Given the description of an element on the screen output the (x, y) to click on. 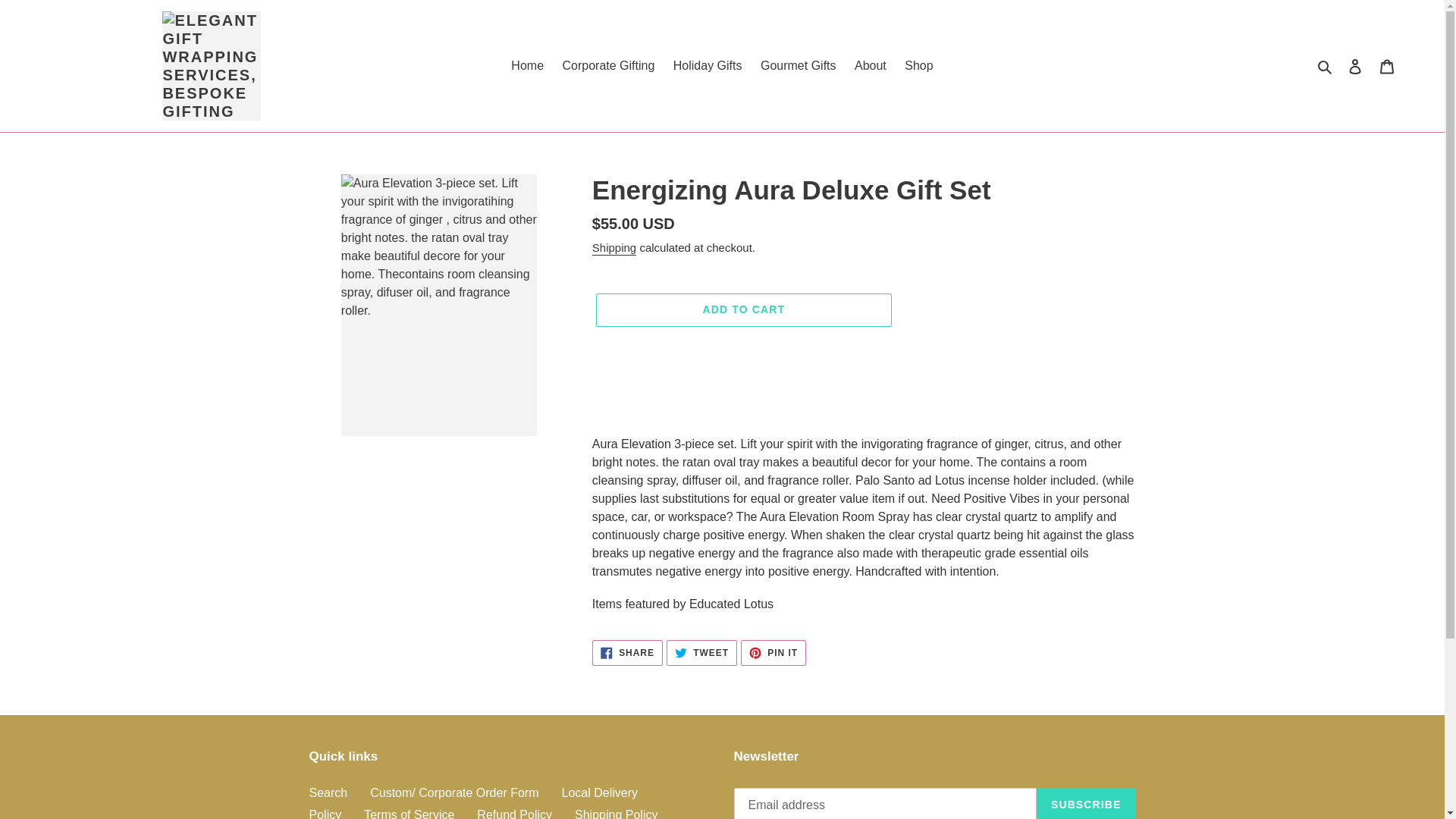
Policy (325, 813)
Corporate Gifting (608, 65)
Local Delivery (598, 792)
Home (773, 652)
Terms of Service (527, 65)
Search (409, 813)
Shop (327, 792)
Log in (918, 65)
Shipping Policy (1355, 65)
